Given the description of an element on the screen output the (x, y) to click on. 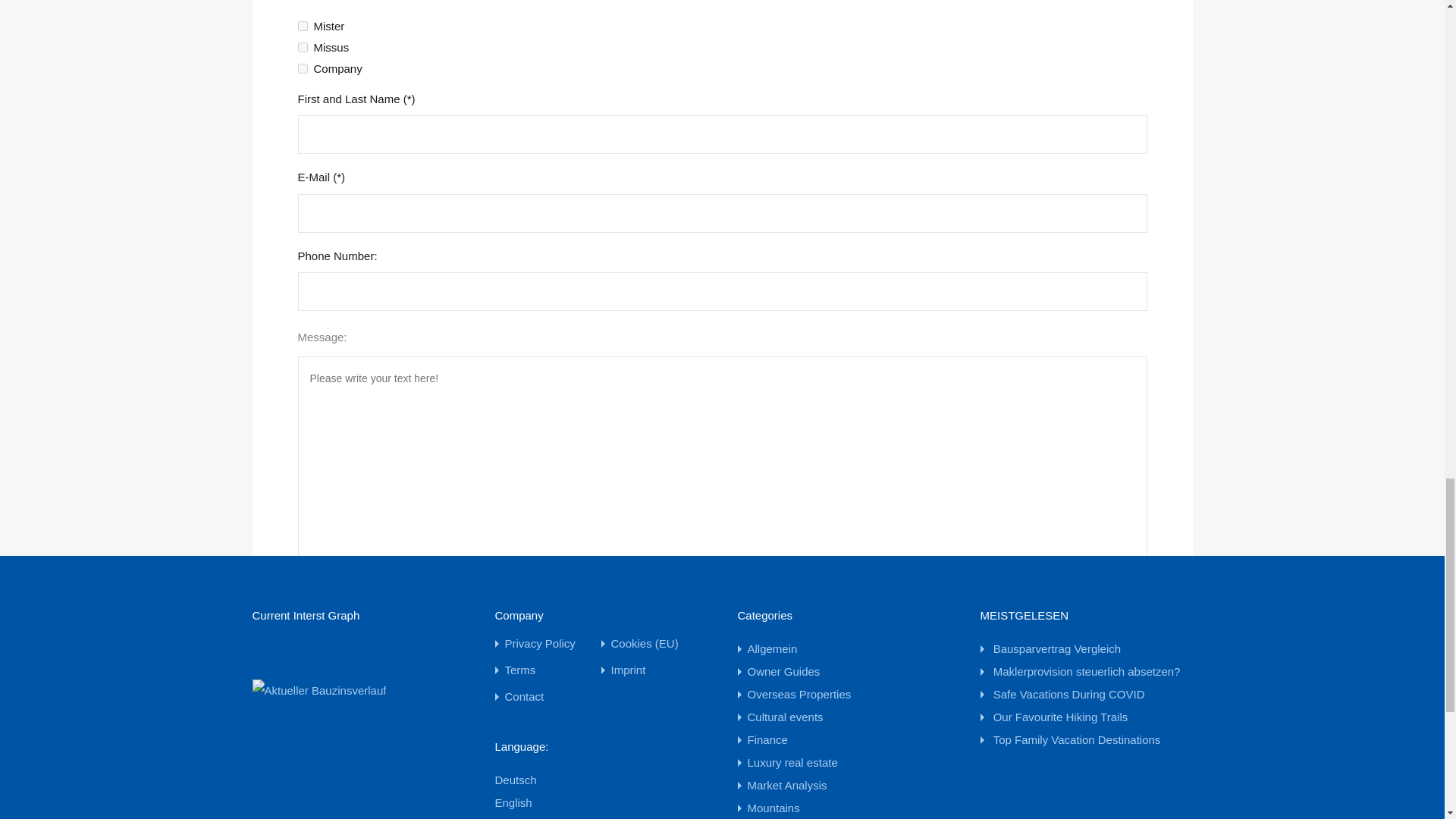
Company (302, 68)
Missus (302, 47)
Mister (302, 26)
1 (302, 634)
Senden (331, 737)
